Given the description of an element on the screen output the (x, y) to click on. 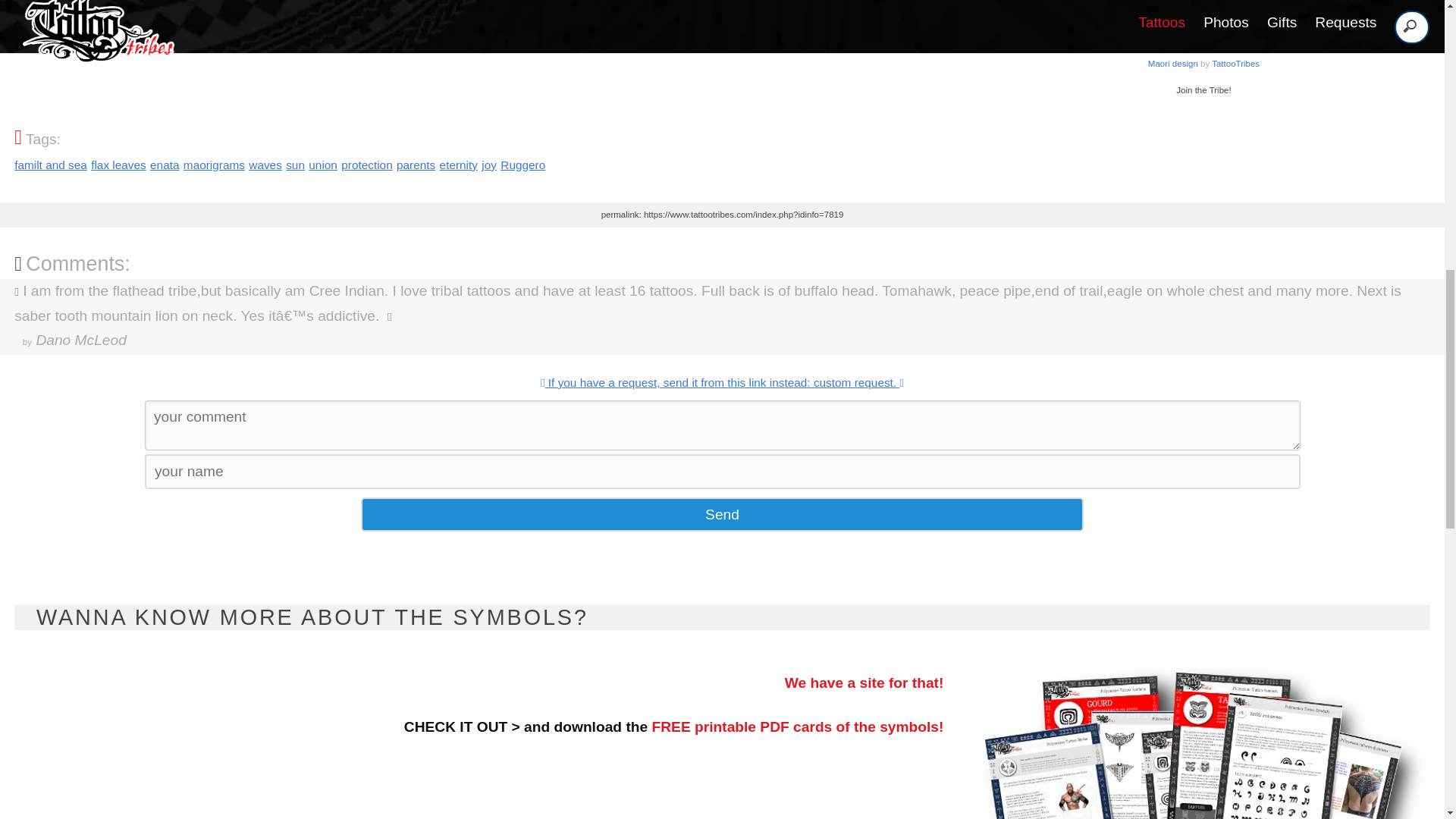
union (322, 164)
Send (722, 514)
eternity (458, 164)
parents (415, 164)
maorigrams (1202, 58)
familt and sea (213, 164)
protection (50, 164)
flax leaves (365, 164)
MANA ATUA - white mug (118, 164)
waves (1202, 58)
enata (265, 164)
sun (164, 164)
